Given the description of an element on the screen output the (x, y) to click on. 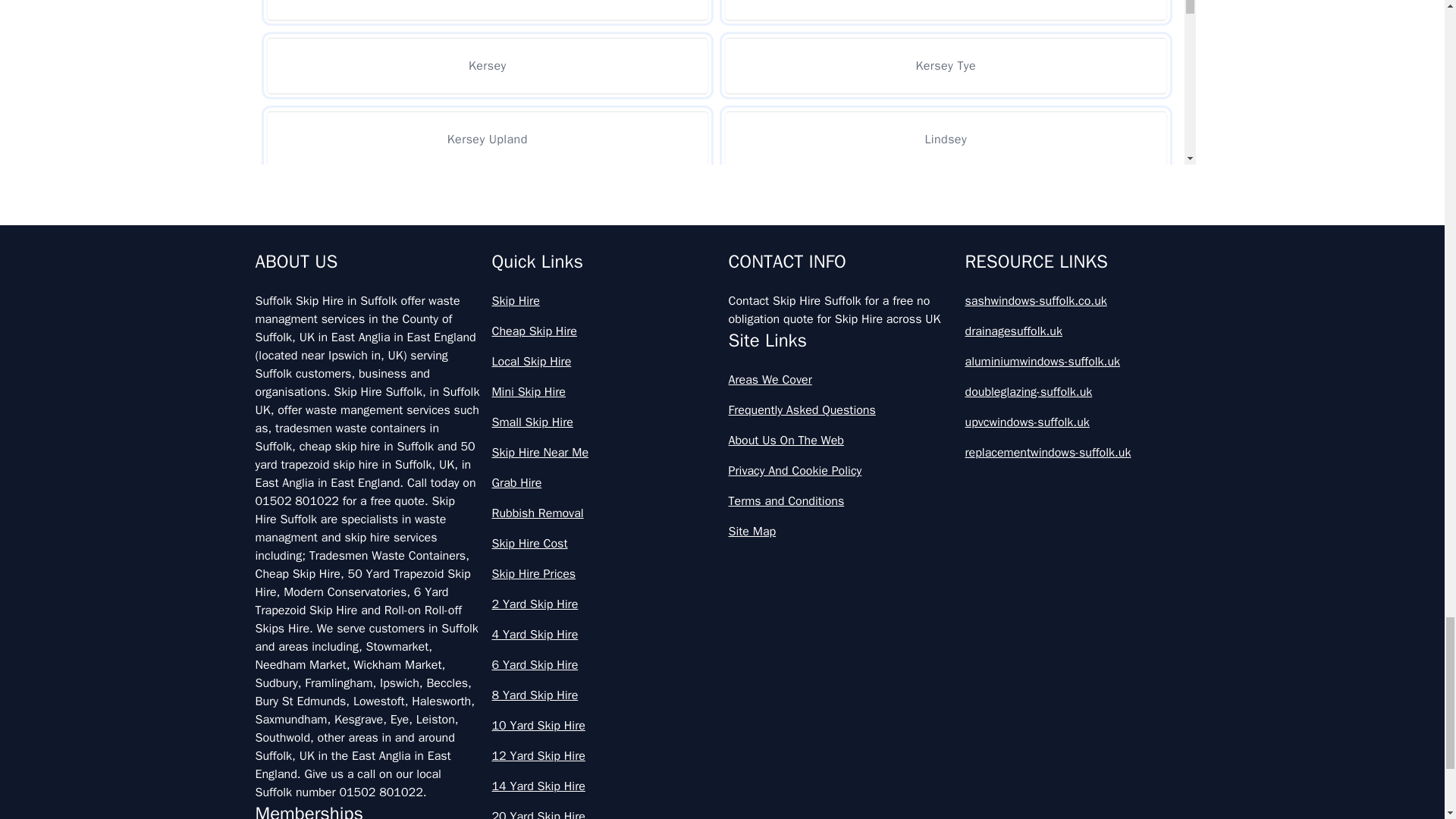
Whatfield (486, 359)
sashwindows-suffolk.co.uk (1076, 300)
Site Map (840, 531)
Elmsett (945, 9)
doubleglazing-suffolk.uk (1076, 392)
replacementwindows-suffolk.uk (1076, 452)
Lindsey Tye (486, 212)
Kersey (486, 65)
Ash Street (486, 9)
upvcwindows-suffolk.uk (1076, 422)
